Given the description of an element on the screen output the (x, y) to click on. 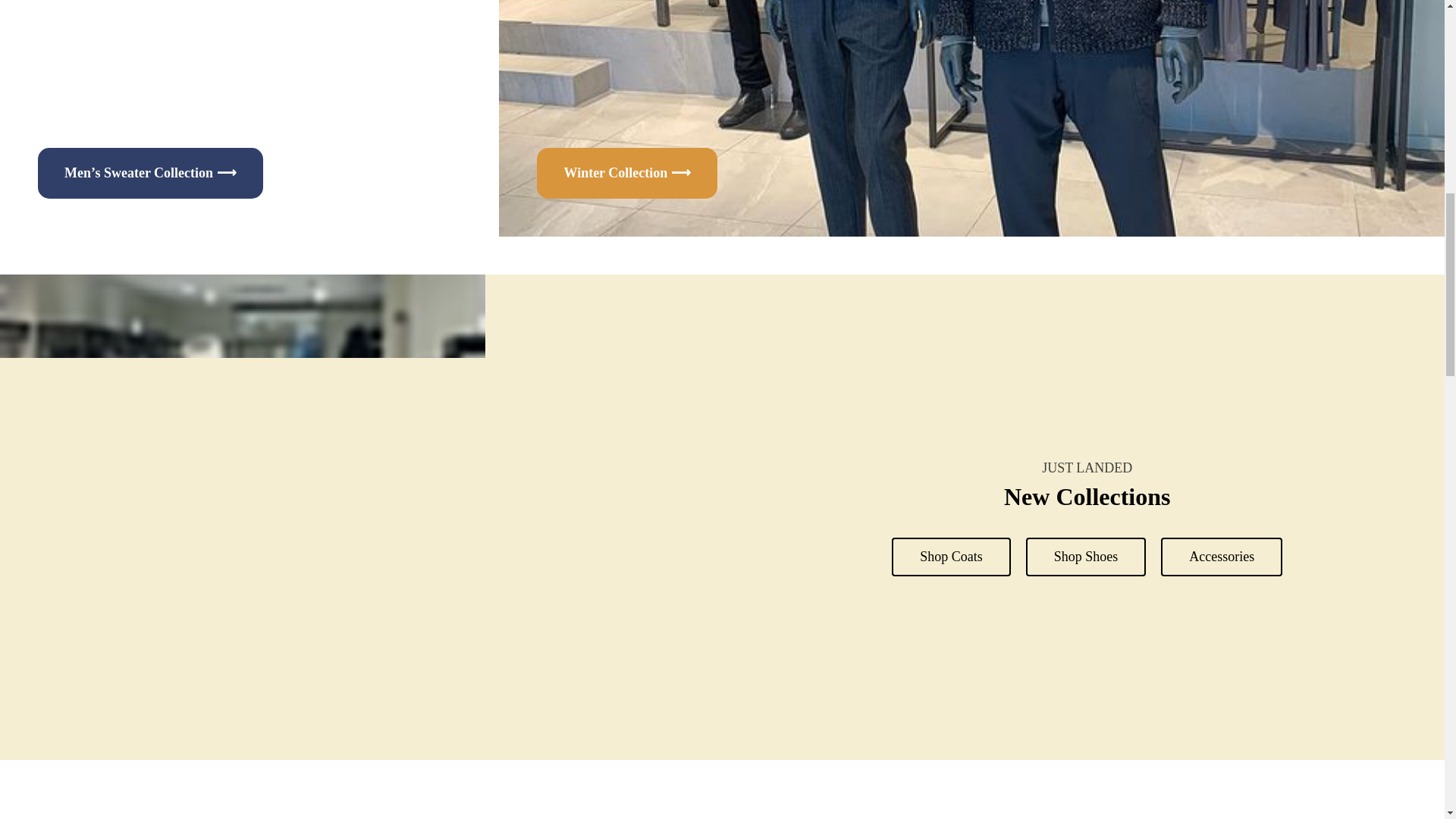
Shop Coats (950, 556)
Accessories (1221, 556)
Shop Shoes (1086, 556)
